Given the description of an element on the screen output the (x, y) to click on. 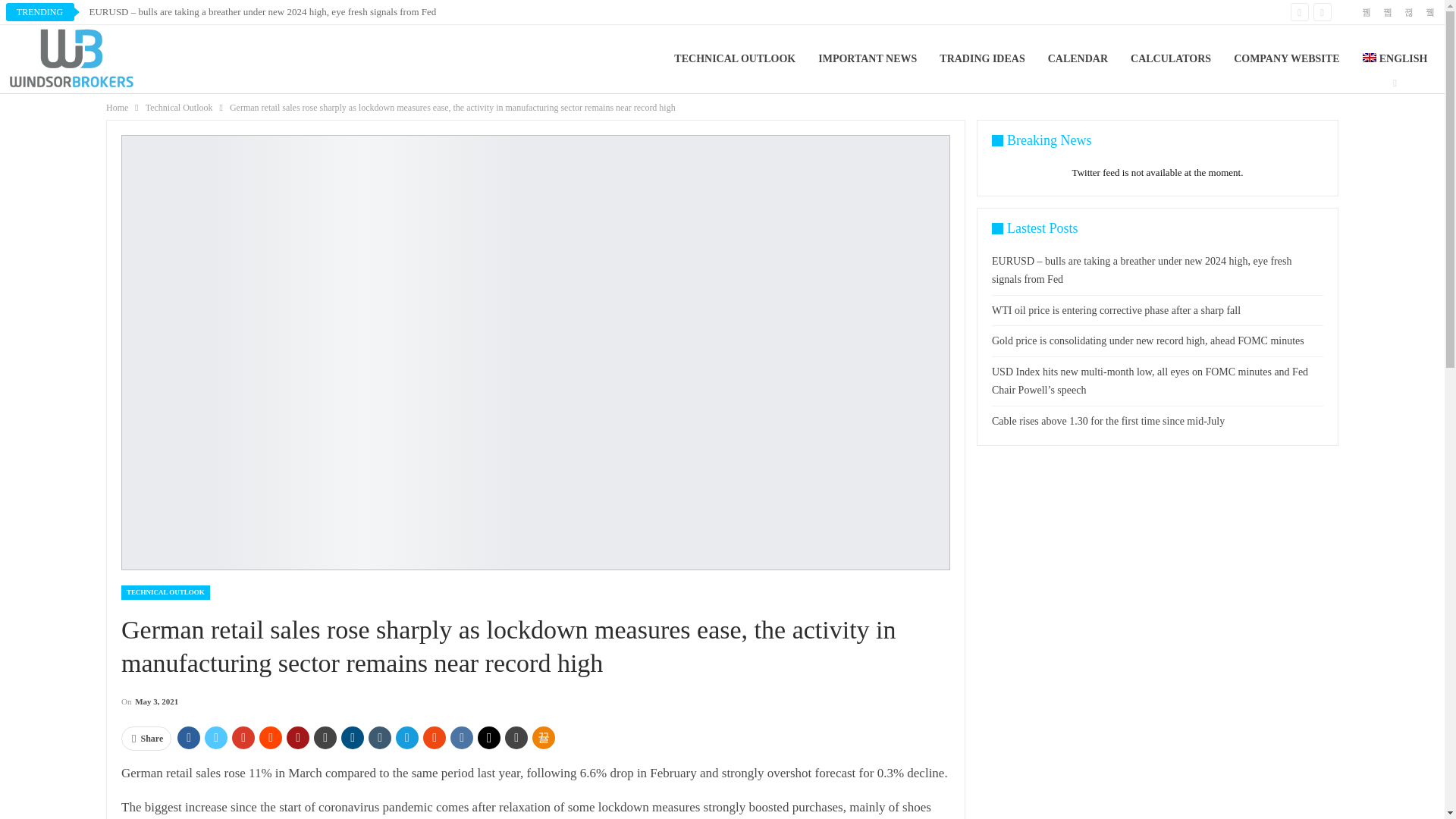
IMPORTANT NEWS (867, 59)
TECHNICAL OUTLOOK (734, 59)
COMPANY WEBSITE (1287, 59)
Home (117, 107)
CALCULATORS (1171, 59)
English (1395, 59)
CALENDAR (1077, 59)
Technical Outlook (178, 107)
TRADING IDEAS (981, 59)
ENGLISH (1395, 59)
